Given the description of an element on the screen output the (x, y) to click on. 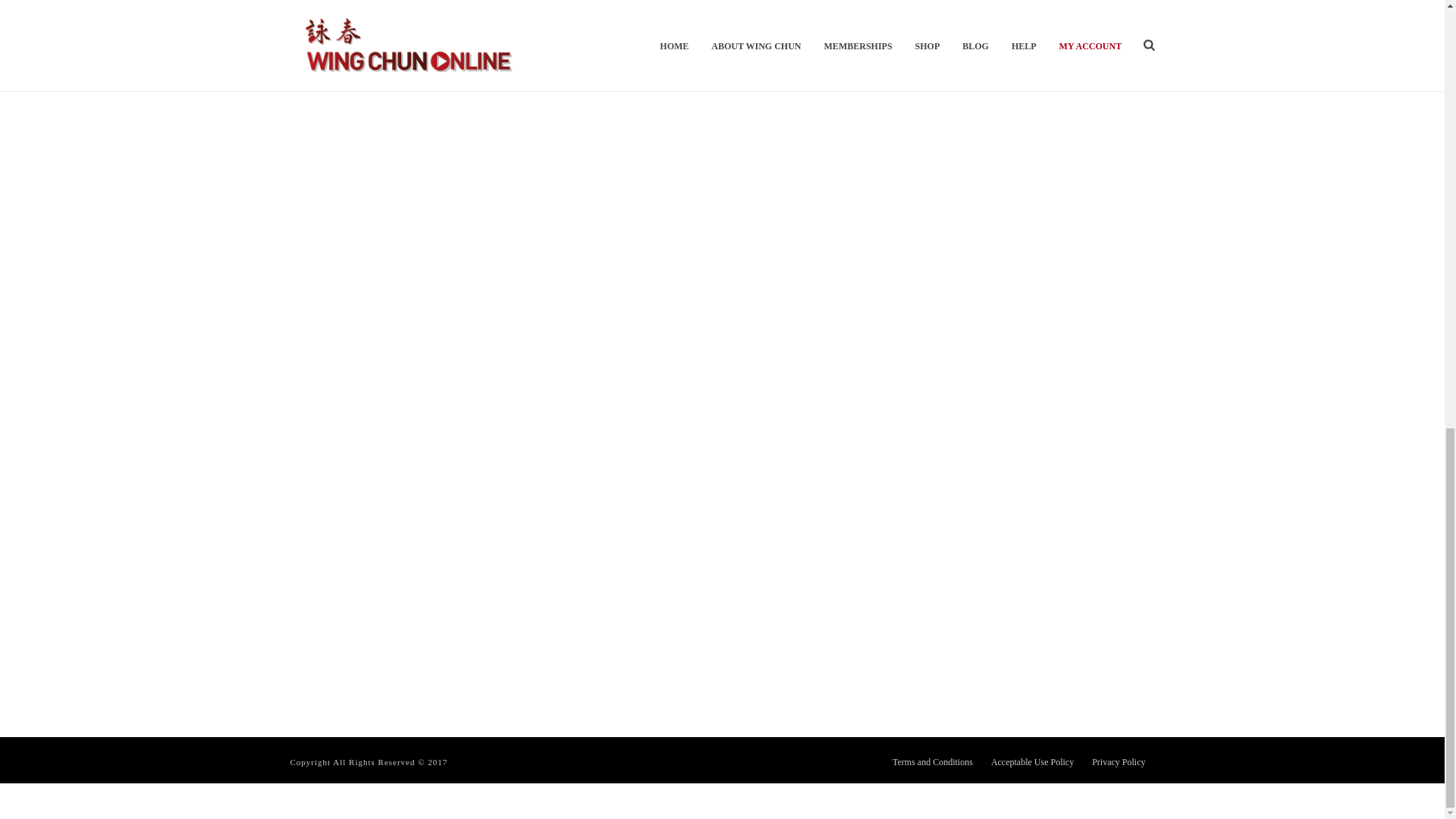
Privacy Policy (1118, 761)
Terms and Conditions (932, 761)
Acceptable Use Policy (1032, 761)
